Given the description of an element on the screen output the (x, y) to click on. 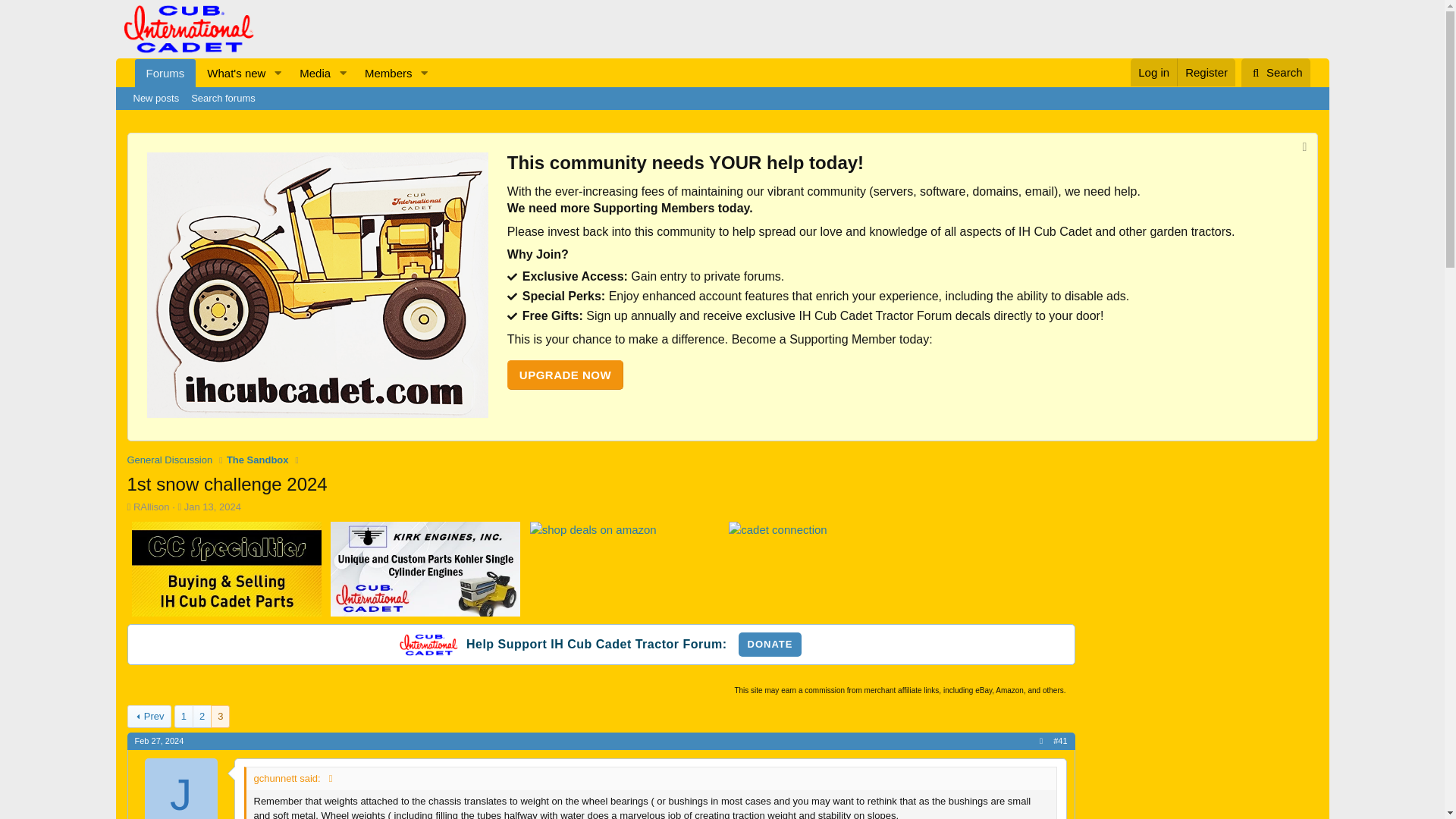
Media (309, 72)
Members (383, 72)
PayPal - The safer, easier way to pay online! (770, 644)
Donate (770, 644)
The Sandbox (257, 459)
General Discussion (285, 72)
New posts (170, 459)
What's new (157, 97)
Search forums (230, 72)
Log in (223, 97)
Search (1153, 72)
Jan 13, 2024 at 2:36 PM (285, 72)
